Given the description of an element on the screen output the (x, y) to click on. 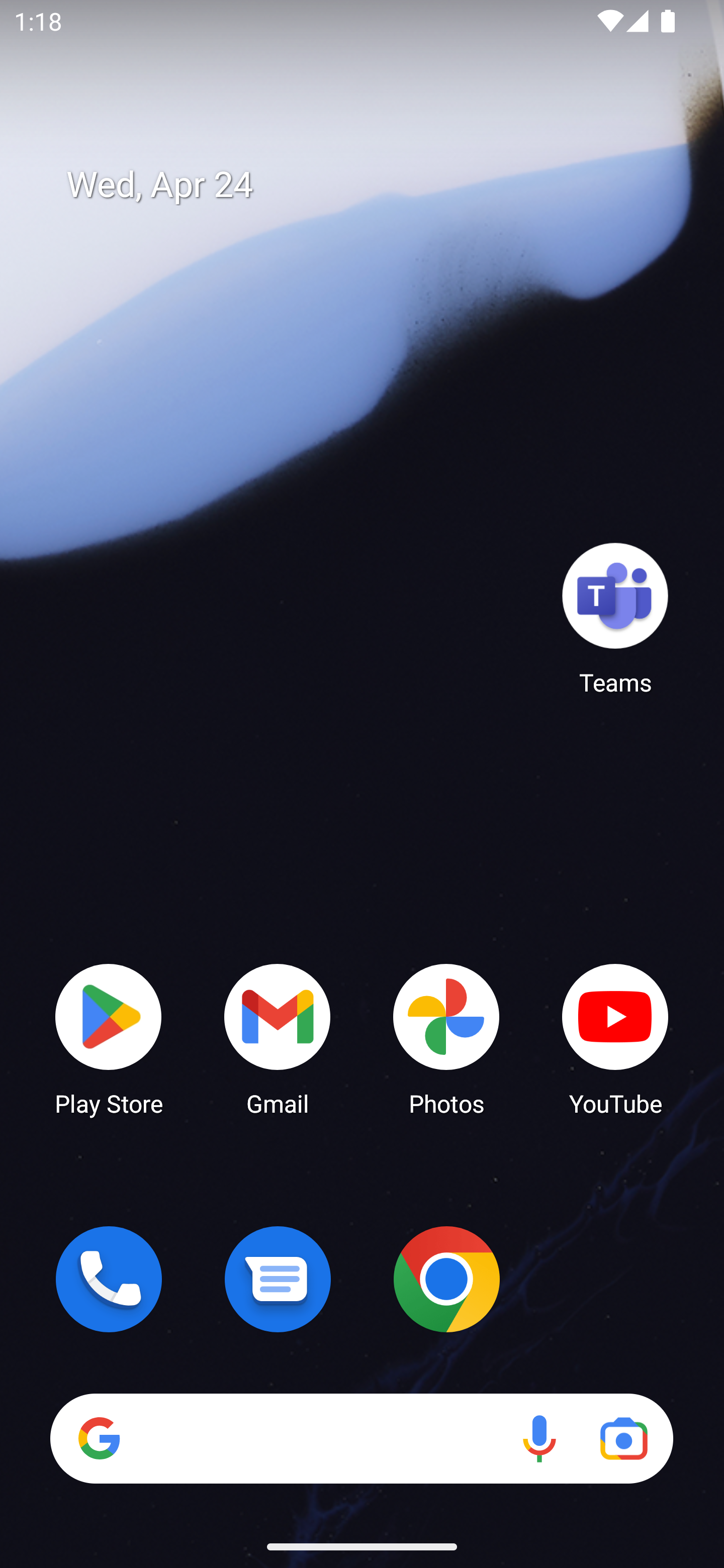
Wed, Apr 24 (375, 184)
Teams (615, 617)
Play Store (108, 1038)
Gmail (277, 1038)
Photos (445, 1038)
YouTube (615, 1038)
Phone (108, 1279)
Messages (277, 1279)
Chrome (446, 1279)
Search Voice search Google Lens (361, 1438)
Voice search (539, 1438)
Google Lens (623, 1438)
